Given the description of an element on the screen output the (x, y) to click on. 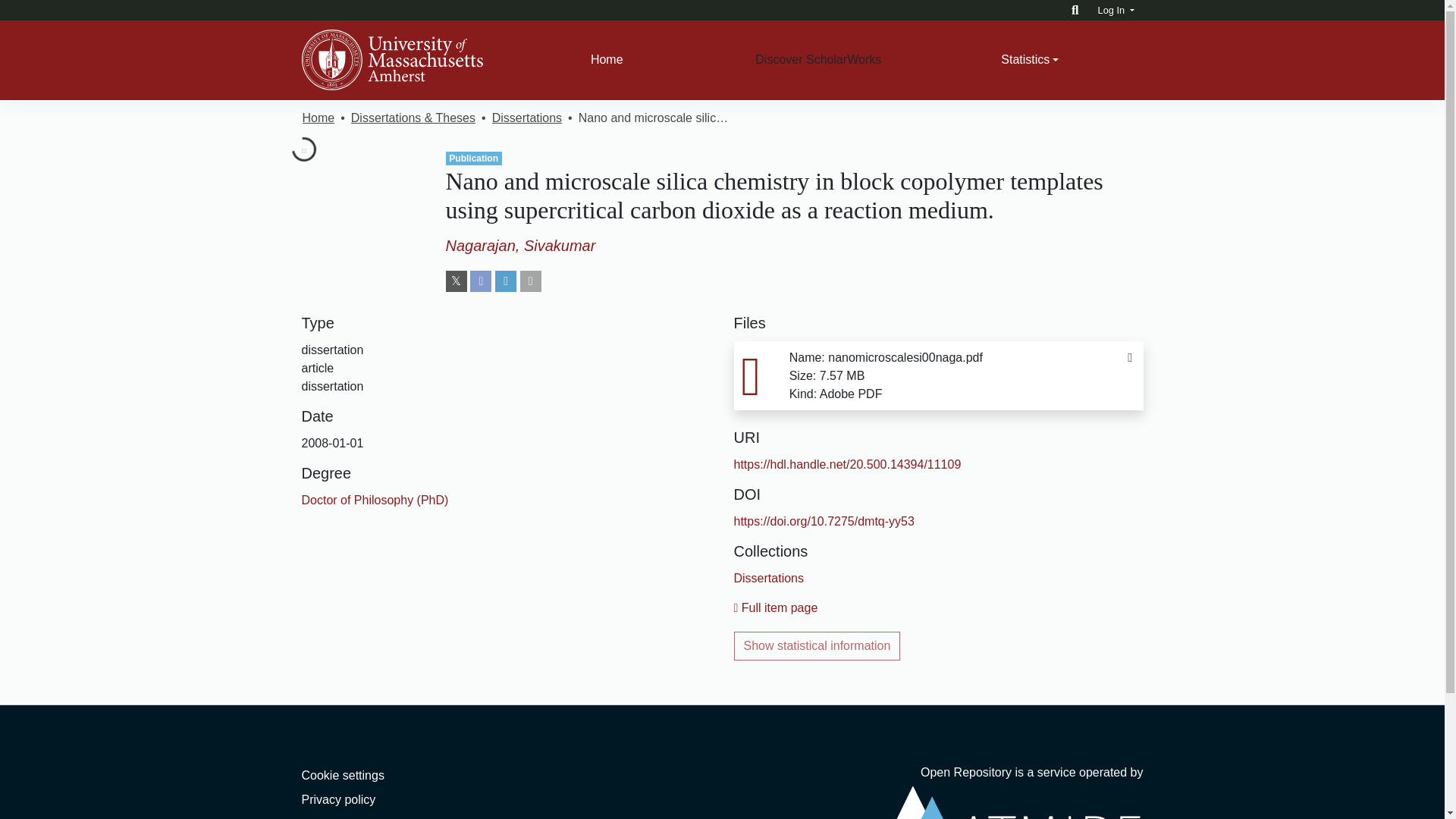
Dissertations (527, 117)
Cookie settings (342, 775)
Open Repository is a service operated by (1009, 792)
Full item page (775, 607)
Privacy policy (338, 799)
Show statistical information (817, 645)
Home (606, 59)
Log In (1115, 9)
Home (317, 117)
Dissertations (768, 577)
Statistics (1029, 59)
Home (606, 59)
Nagarajan, Sivakumar (520, 245)
Send Feedback (344, 818)
Search (1075, 10)
